Given the description of an element on the screen output the (x, y) to click on. 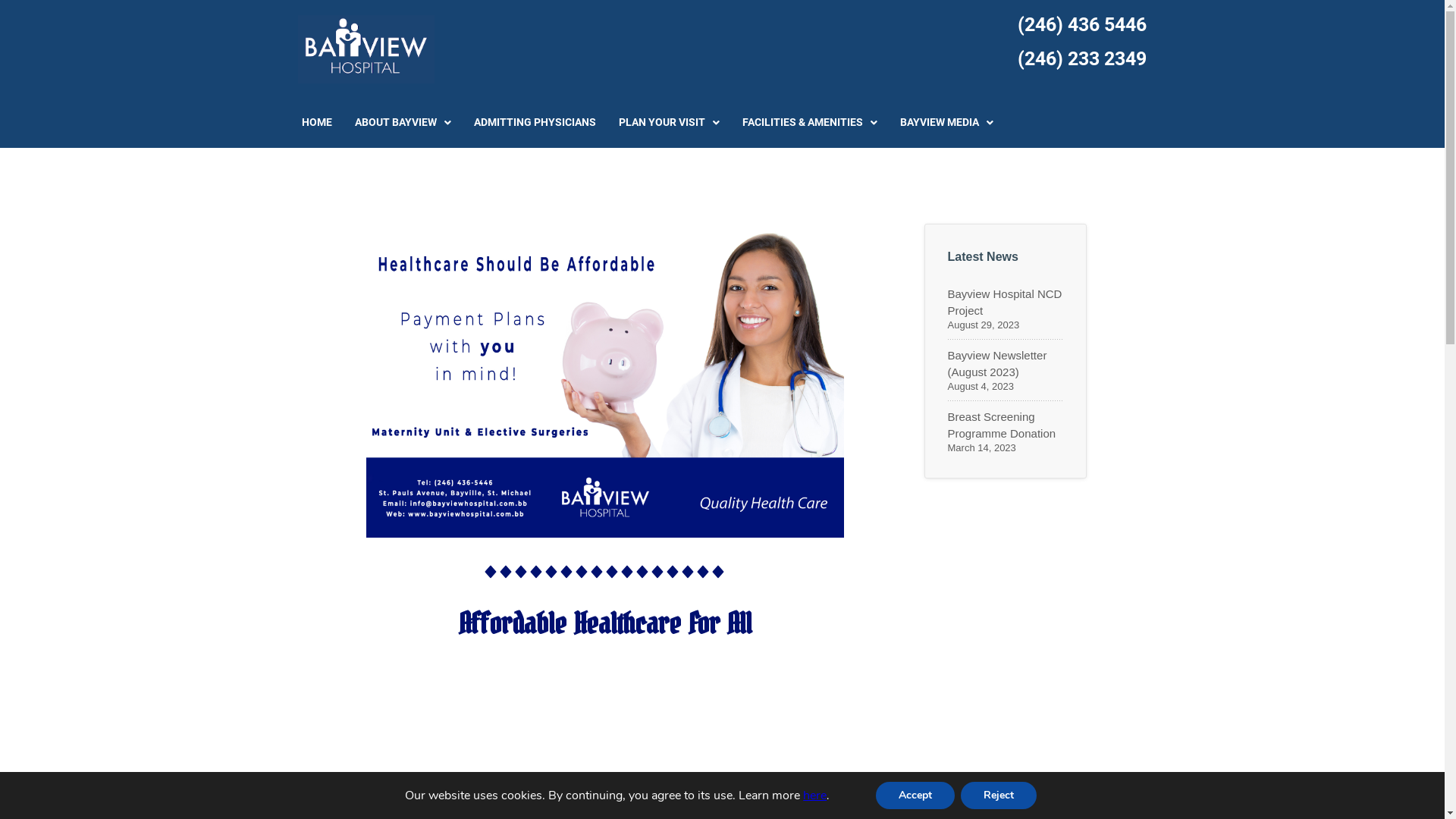
Reject Element type: text (998, 795)
PLAN YOUR VISIT Element type: text (669, 122)
Bayview Newsletter (August 2023) Element type: text (1005, 363)
Accept Element type: text (914, 795)
ABOUT BAYVIEW Element type: text (402, 122)
here Element type: text (814, 795)
(246) 233 2349 Element type: text (1081, 58)
Breast Screening Programme Donation Element type: text (1005, 425)
FACILITIES & AMENITIES Element type: text (809, 122)
HOME Element type: text (316, 122)
BAYVIEW MEDIA Element type: text (946, 122)
Bayview Hospital NCD Project Element type: text (1005, 302)
(246) 436 5446 Element type: text (1081, 24)
ADMITTING PHYSICIANS Element type: text (534, 122)
